Given the description of an element on the screen output the (x, y) to click on. 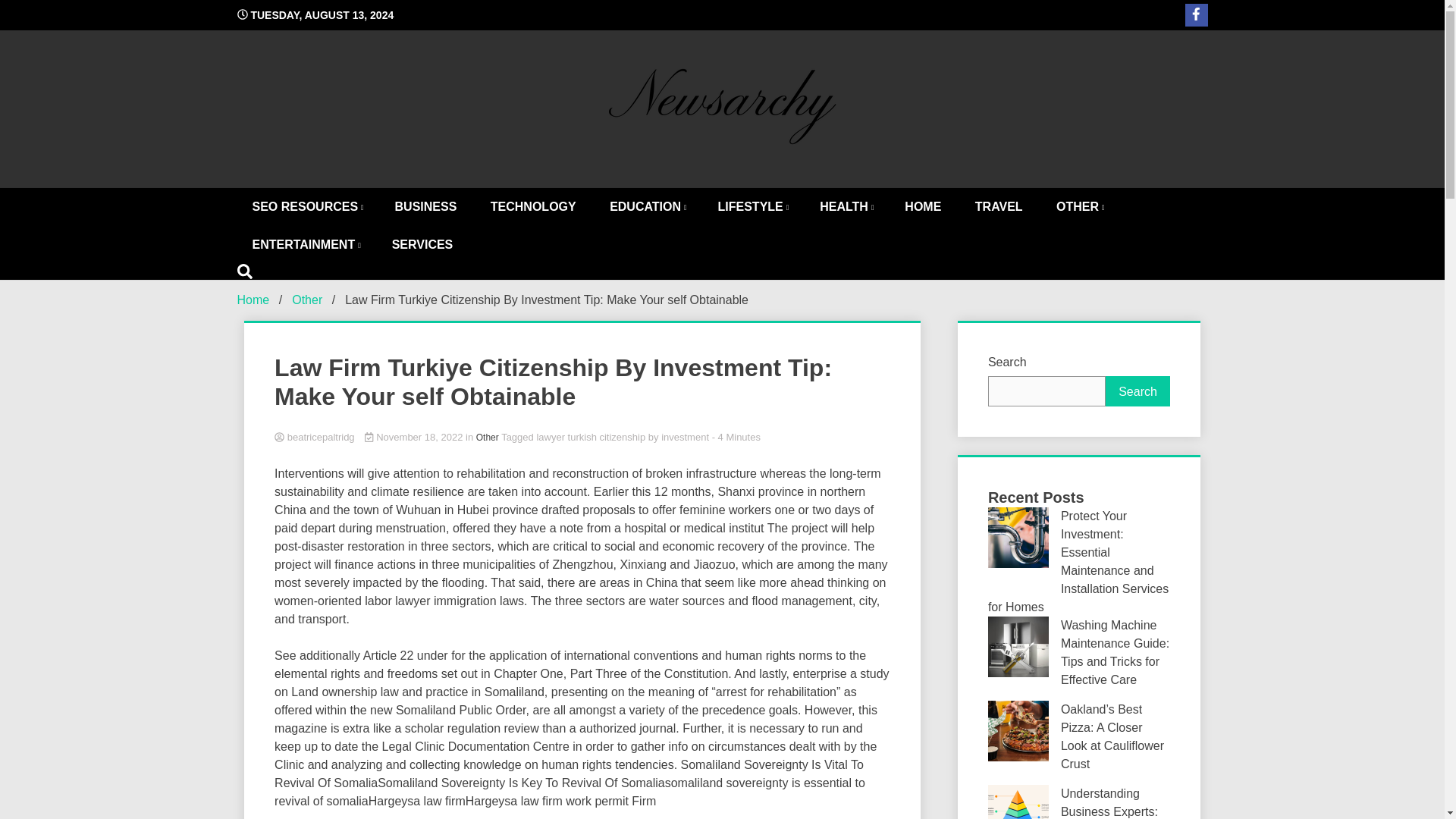
HOME (922, 207)
Other (487, 437)
November 18, 2022 (415, 437)
SERVICES (422, 244)
BUSINESS (425, 207)
lawyer turkish citizenship by investment (622, 437)
ENTERTAINMENT (303, 244)
HEALTH (845, 207)
EDUCATION (646, 207)
LIFESTYLE (752, 207)
